Given the description of an element on the screen output the (x, y) to click on. 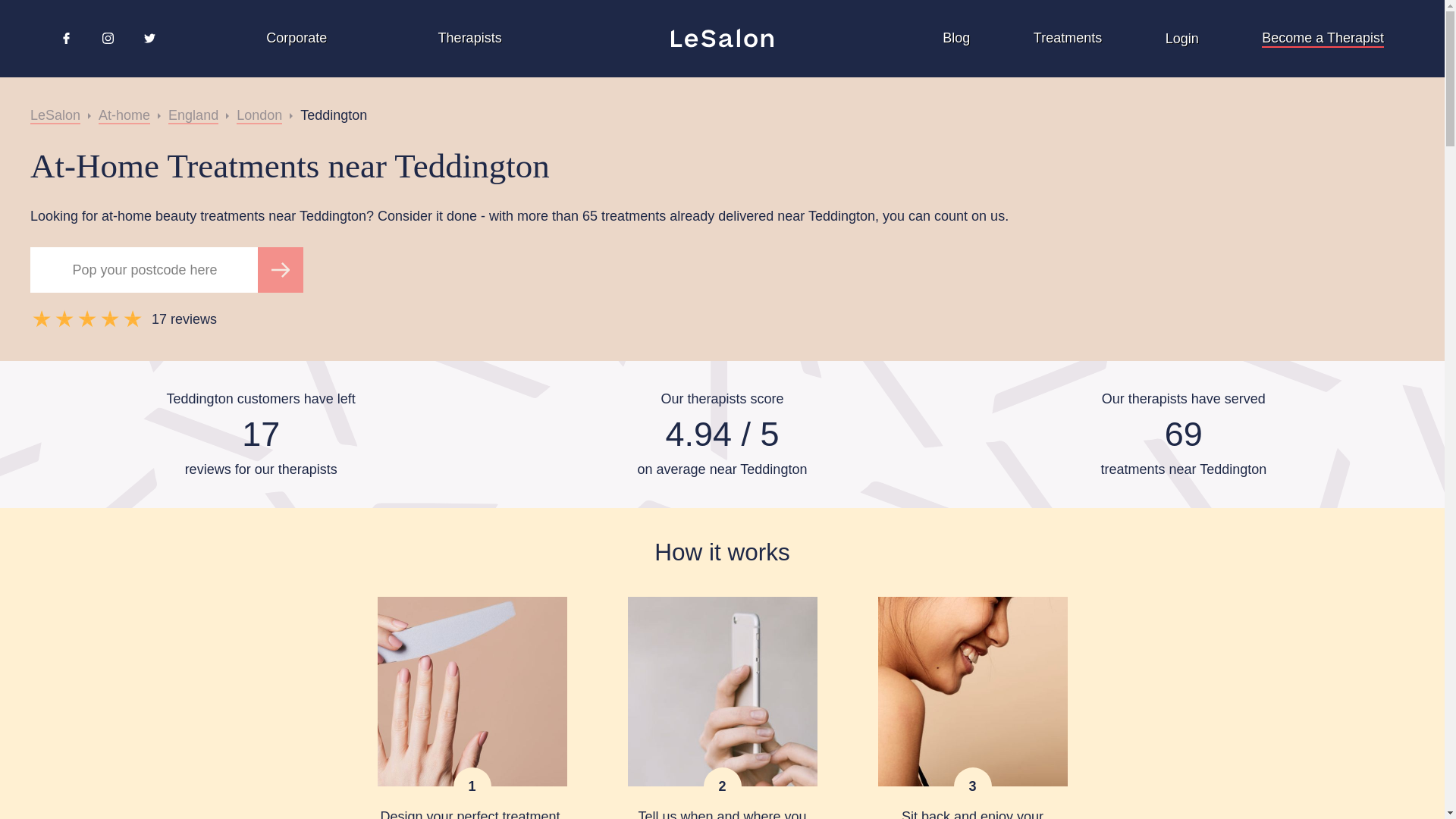
Corporate (296, 38)
Therapists (470, 38)
Blog (955, 38)
Login (1182, 38)
LeSalon (55, 115)
Treatments (1067, 38)
Become a Therapist (1323, 38)
London (258, 115)
Teddington (332, 114)
At-home (124, 115)
England (193, 115)
